Given the description of an element on the screen output the (x, y) to click on. 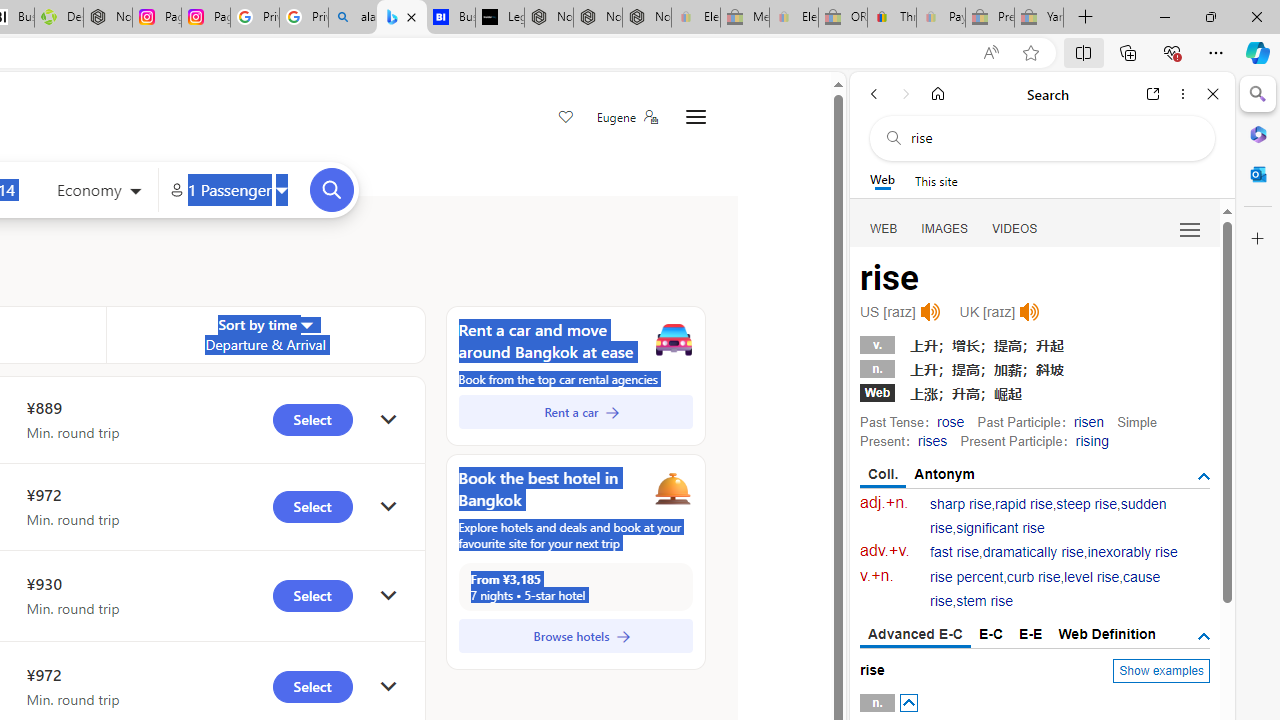
Select class of service (98, 192)
Antonym (945, 473)
Search Filter, WEB (884, 228)
Click to listen (1029, 312)
rapid rise (1023, 503)
WEB (884, 228)
Payments Terms of Use | eBay.com - Sleeping (940, 17)
Press Room - eBay Inc. - Sleeping (989, 17)
rise percent (966, 577)
Save (565, 118)
